Given the description of an element on the screen output the (x, y) to click on. 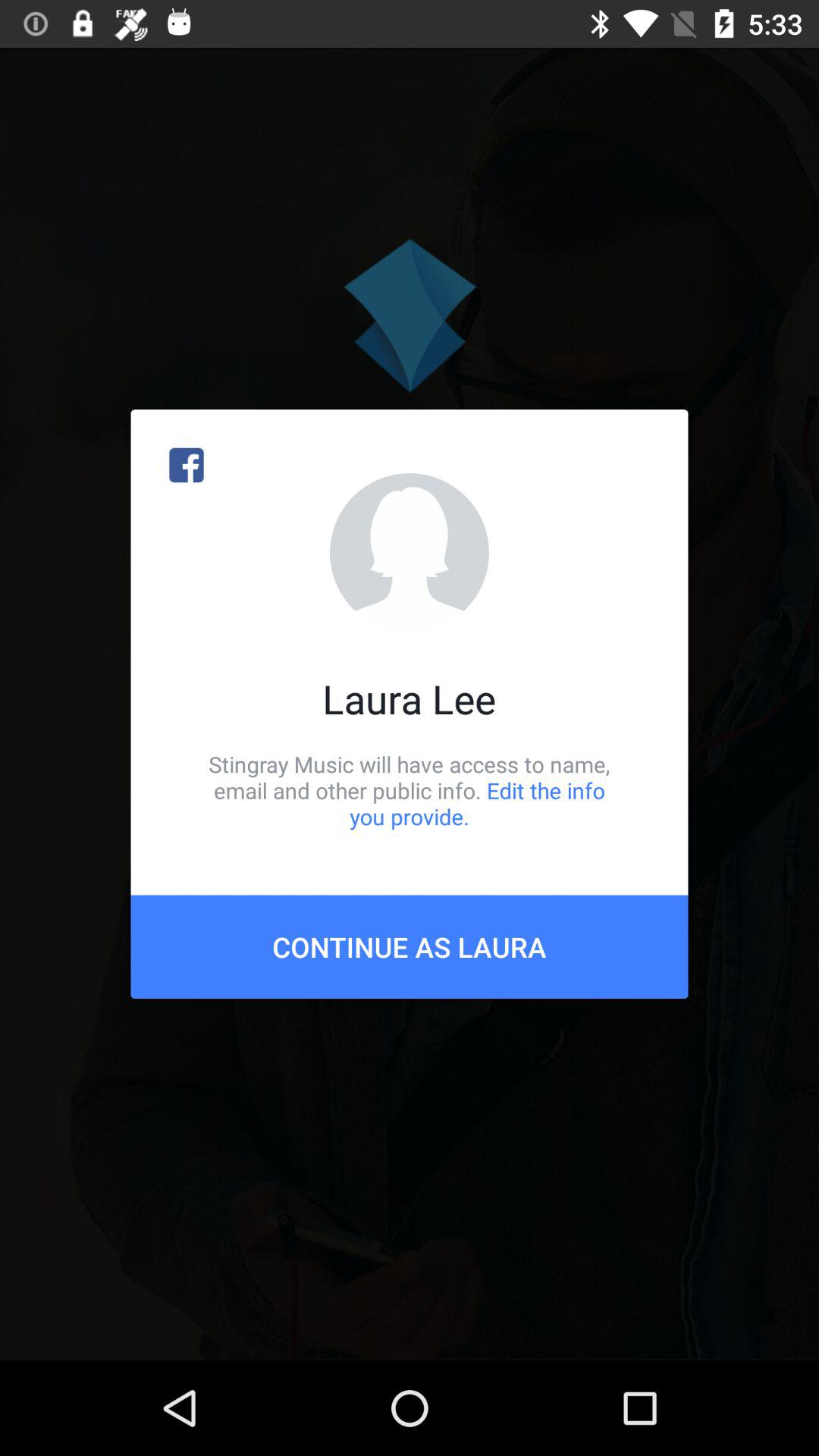
tap stingray music will icon (409, 790)
